Given the description of an element on the screen output the (x, y) to click on. 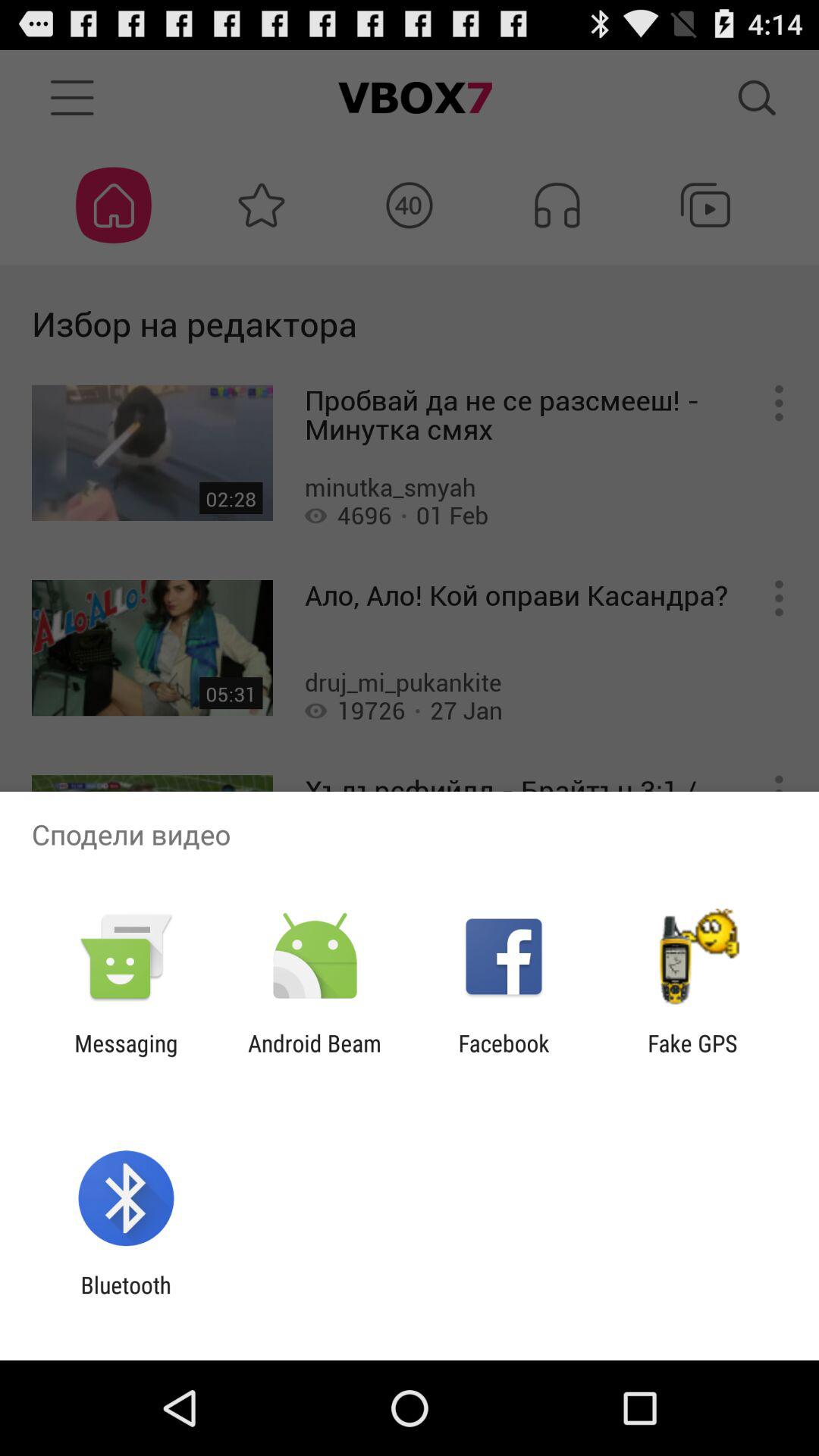
scroll until bluetooth app (125, 1298)
